Given the description of an element on the screen output the (x, y) to click on. 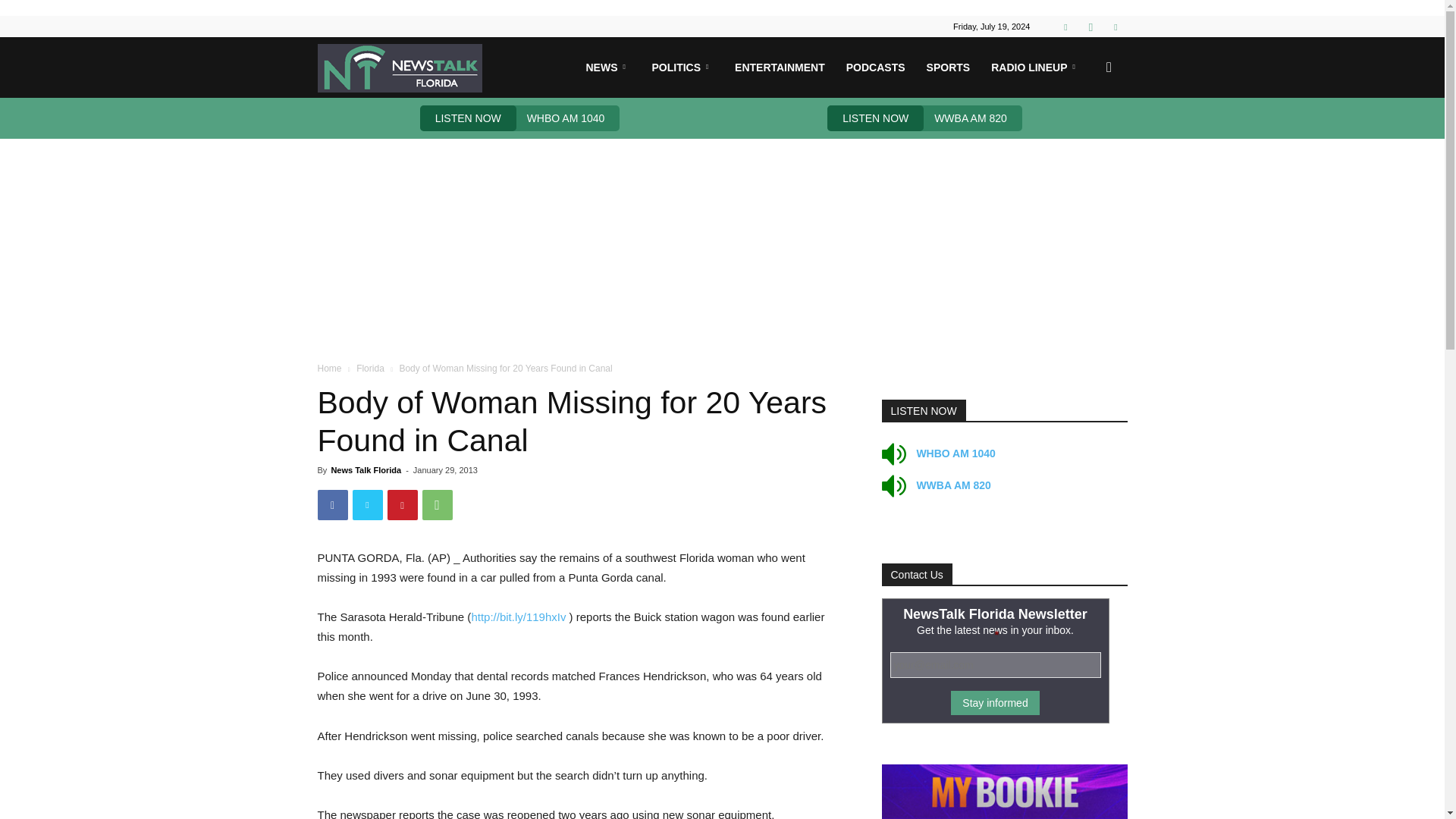
View all posts in Florida (370, 368)
Instagram (1090, 25)
Stay informed (994, 702)
Twitter (1114, 25)
Facebook (1065, 25)
Search (1085, 139)
